Given the description of an element on the screen output the (x, y) to click on. 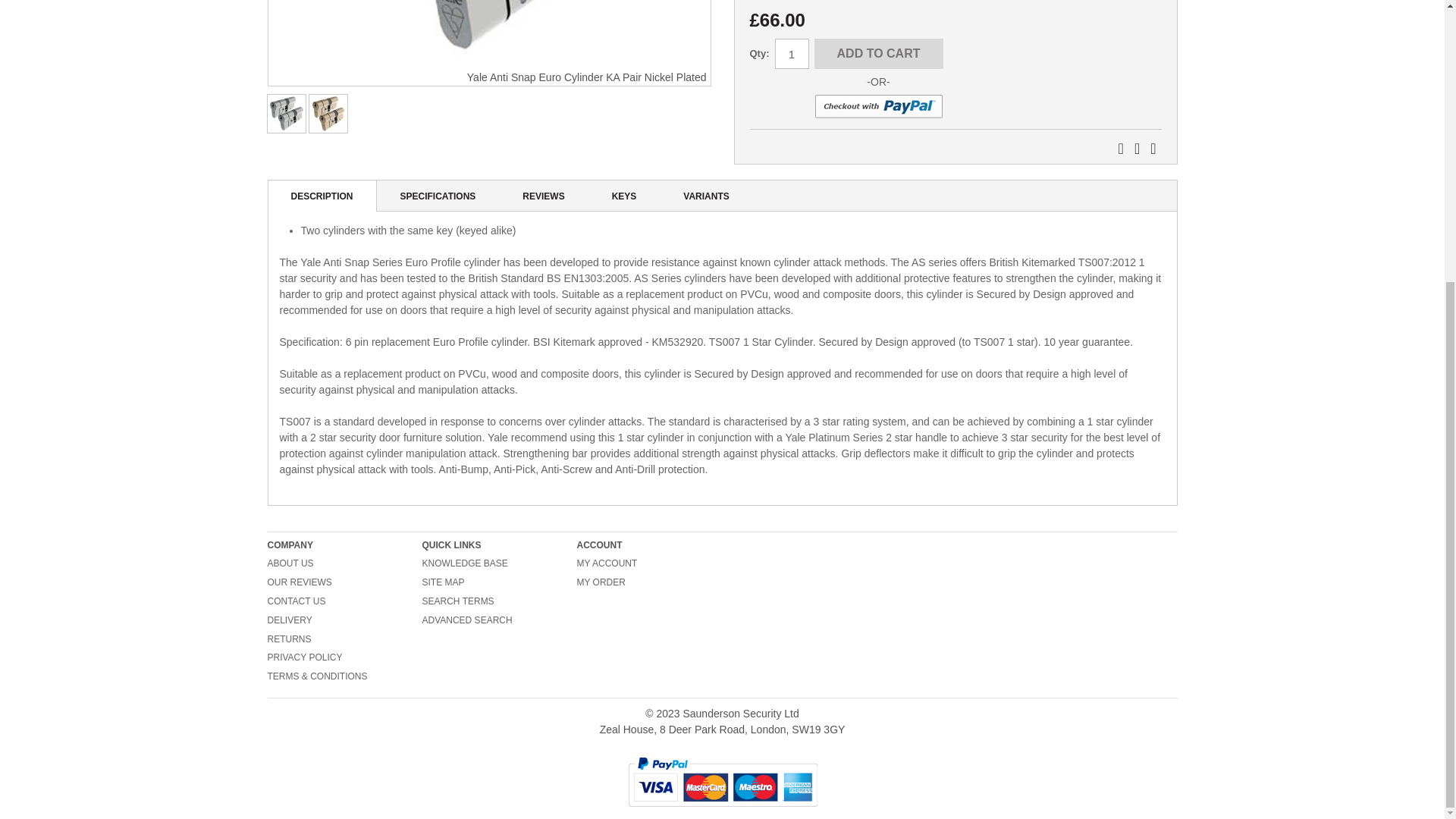
Yale Anti Snap Euro Cylinder KA Pair Nickel Plated (488, 34)
Yale Anti Snap Euro Cylinder KA Pair Nickel Plated (285, 113)
Qty (791, 53)
Yale Anti Snap Euro Cylinder KA Pair Brass (327, 113)
1 (791, 53)
Checkout with PayPal (878, 106)
Add to Cart (878, 53)
